Given the description of an element on the screen output the (x, y) to click on. 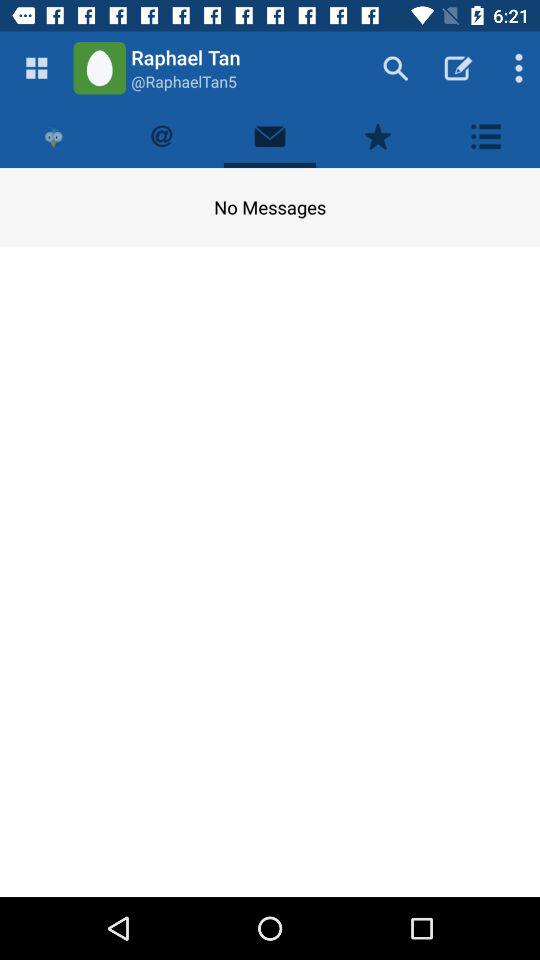
apps of the view (36, 68)
